Given the description of an element on the screen output the (x, y) to click on. 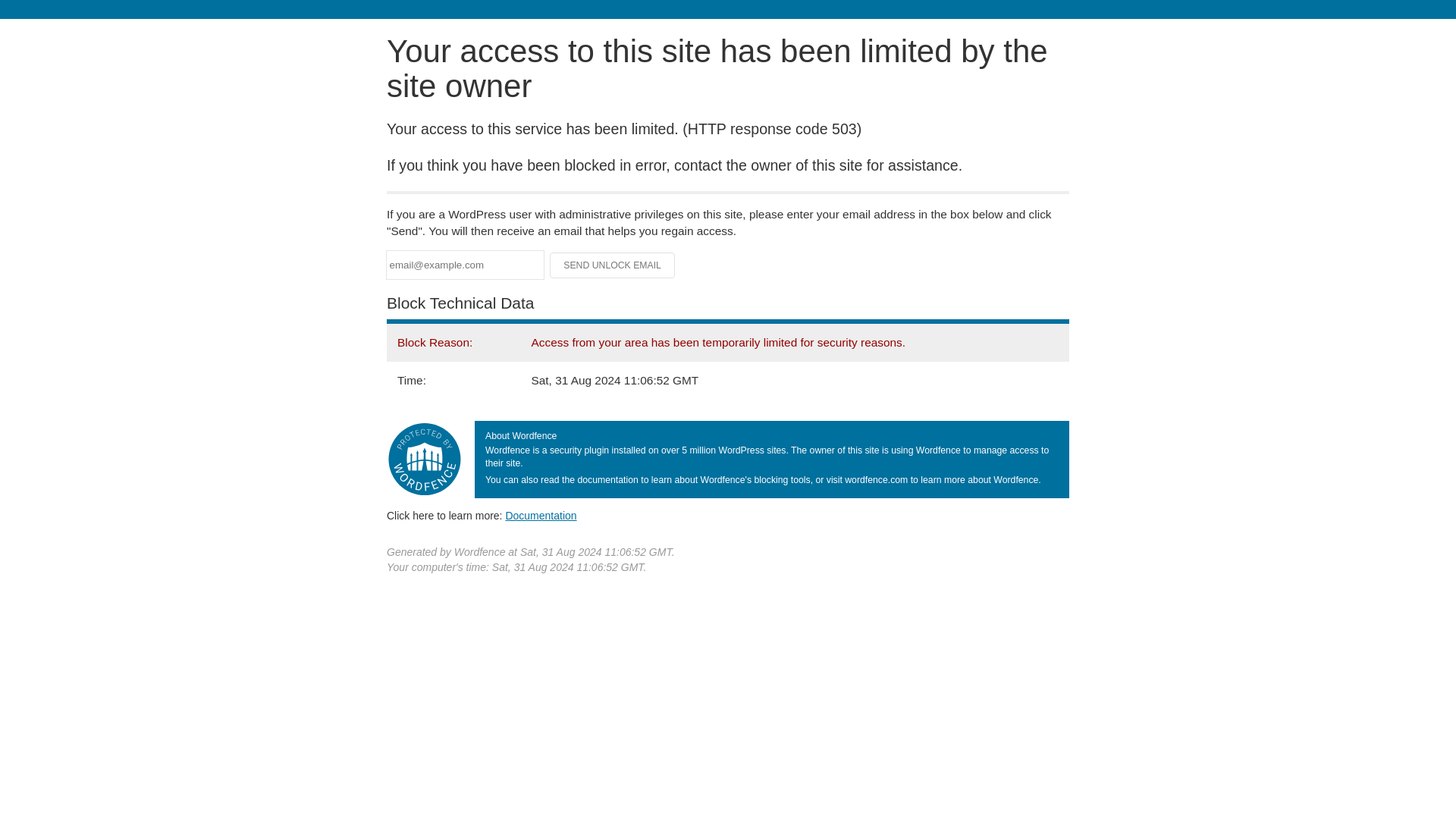
Send Unlock Email (612, 265)
Documentation (540, 515)
Send Unlock Email (612, 265)
